Given the description of an element on the screen output the (x, y) to click on. 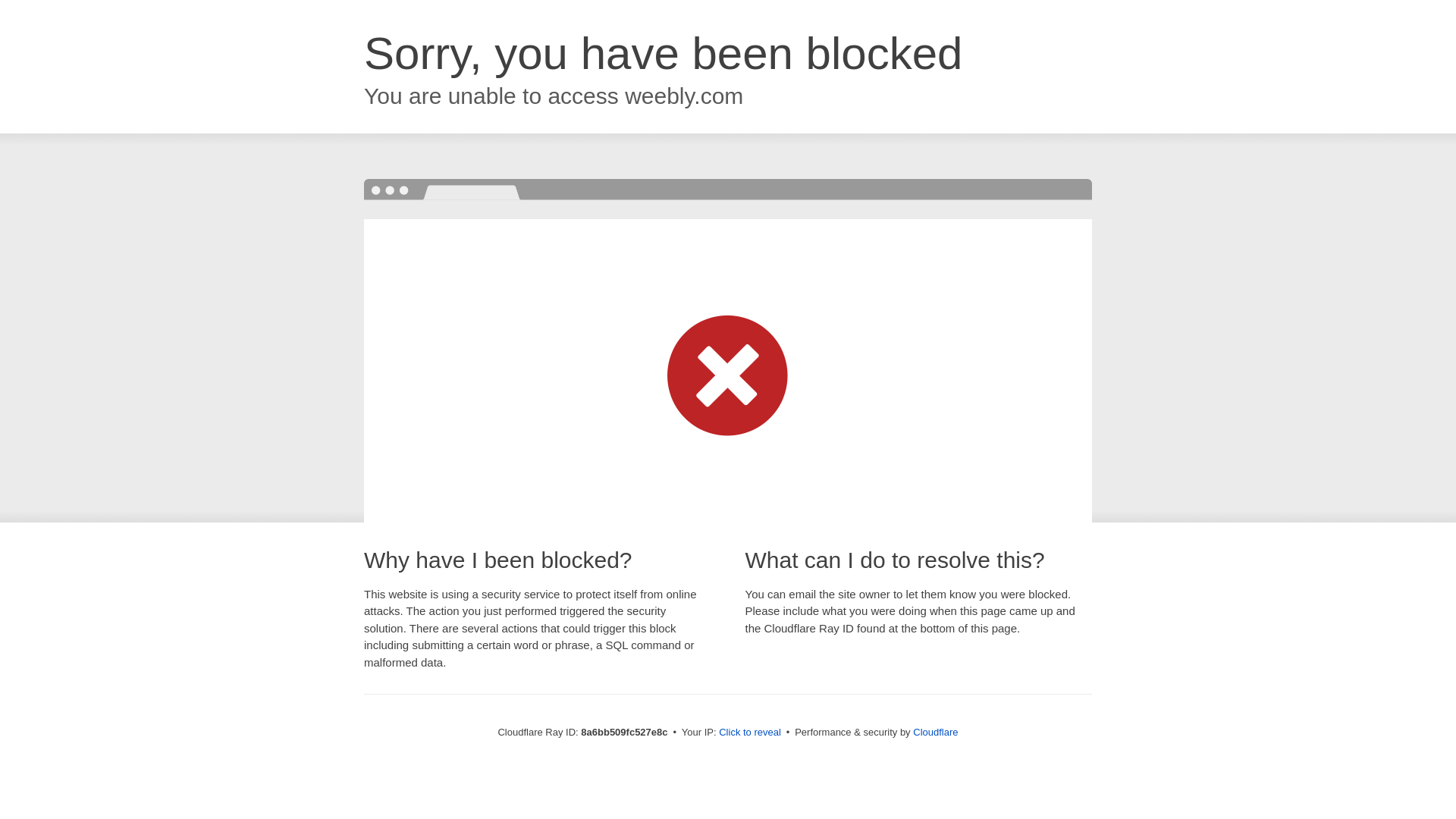
Click to reveal (749, 732)
Cloudflare (935, 731)
